Given the description of an element on the screen output the (x, y) to click on. 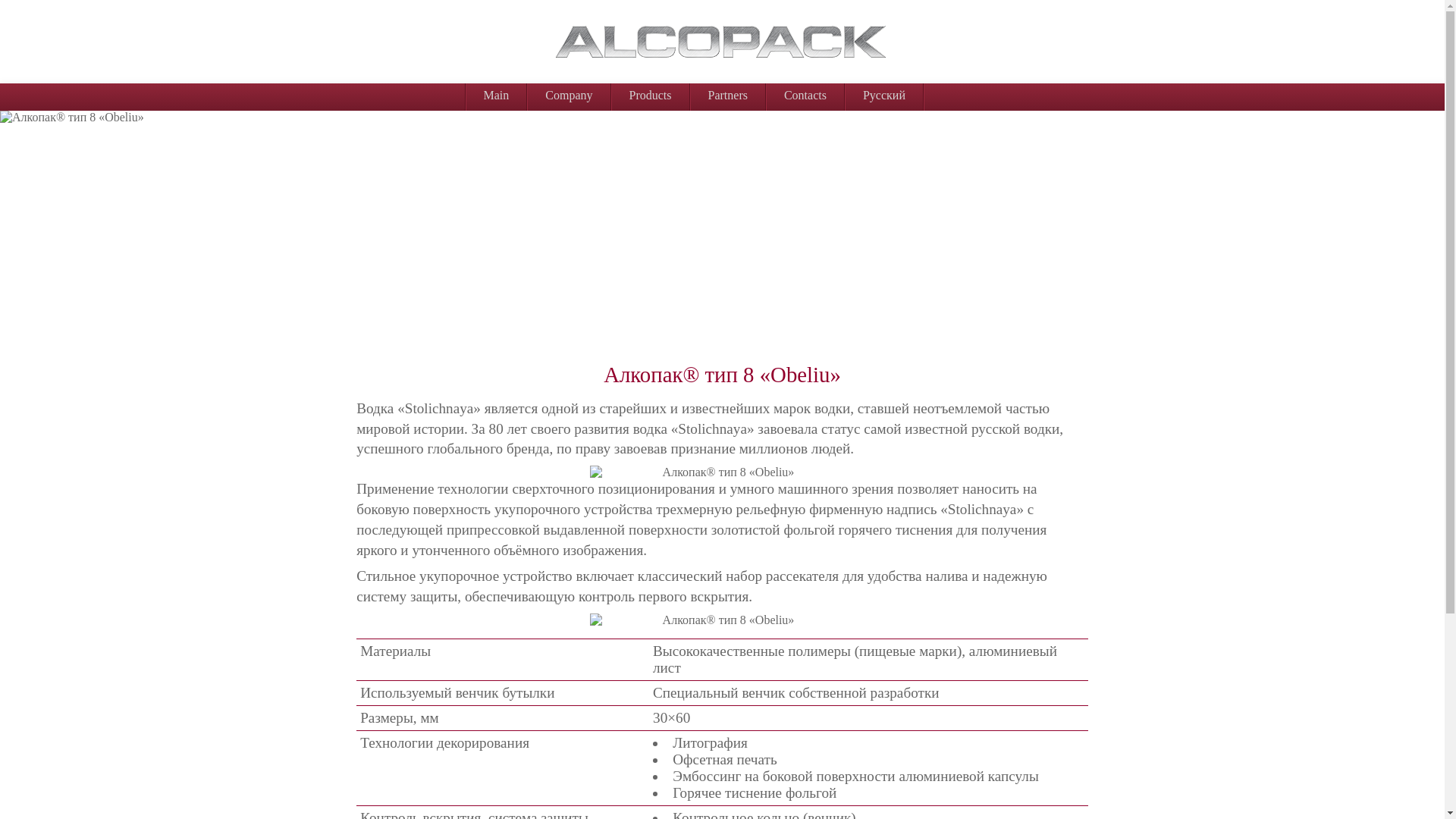
Products Element type: text (649, 95)
Main Element type: text (495, 95)
Company Element type: text (568, 95)
Partners Element type: text (727, 95)
Contacts Element type: text (805, 95)
